Given the description of an element on the screen output the (x, y) to click on. 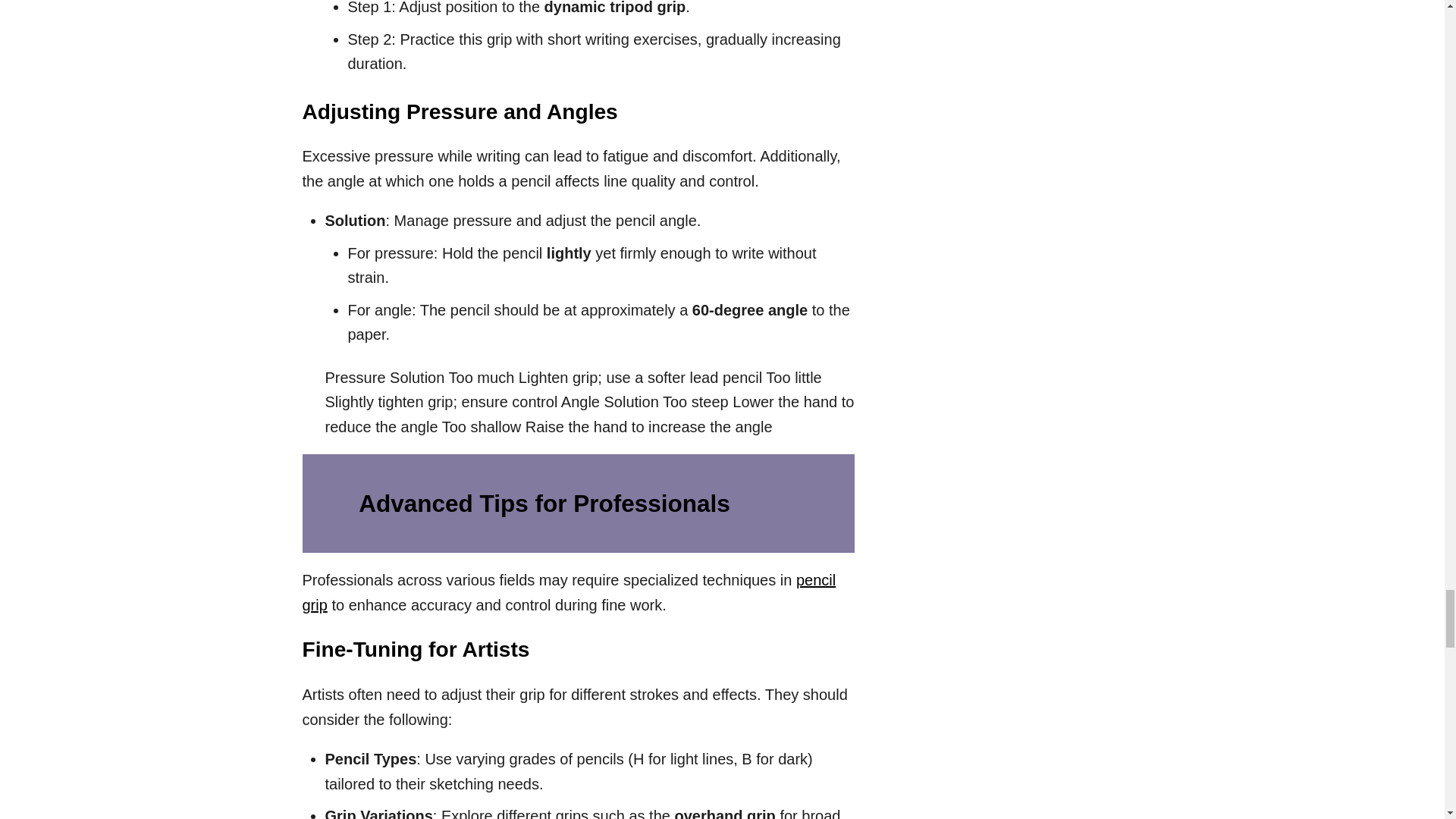
pencil grip (568, 592)
